Given the description of an element on the screen output the (x, y) to click on. 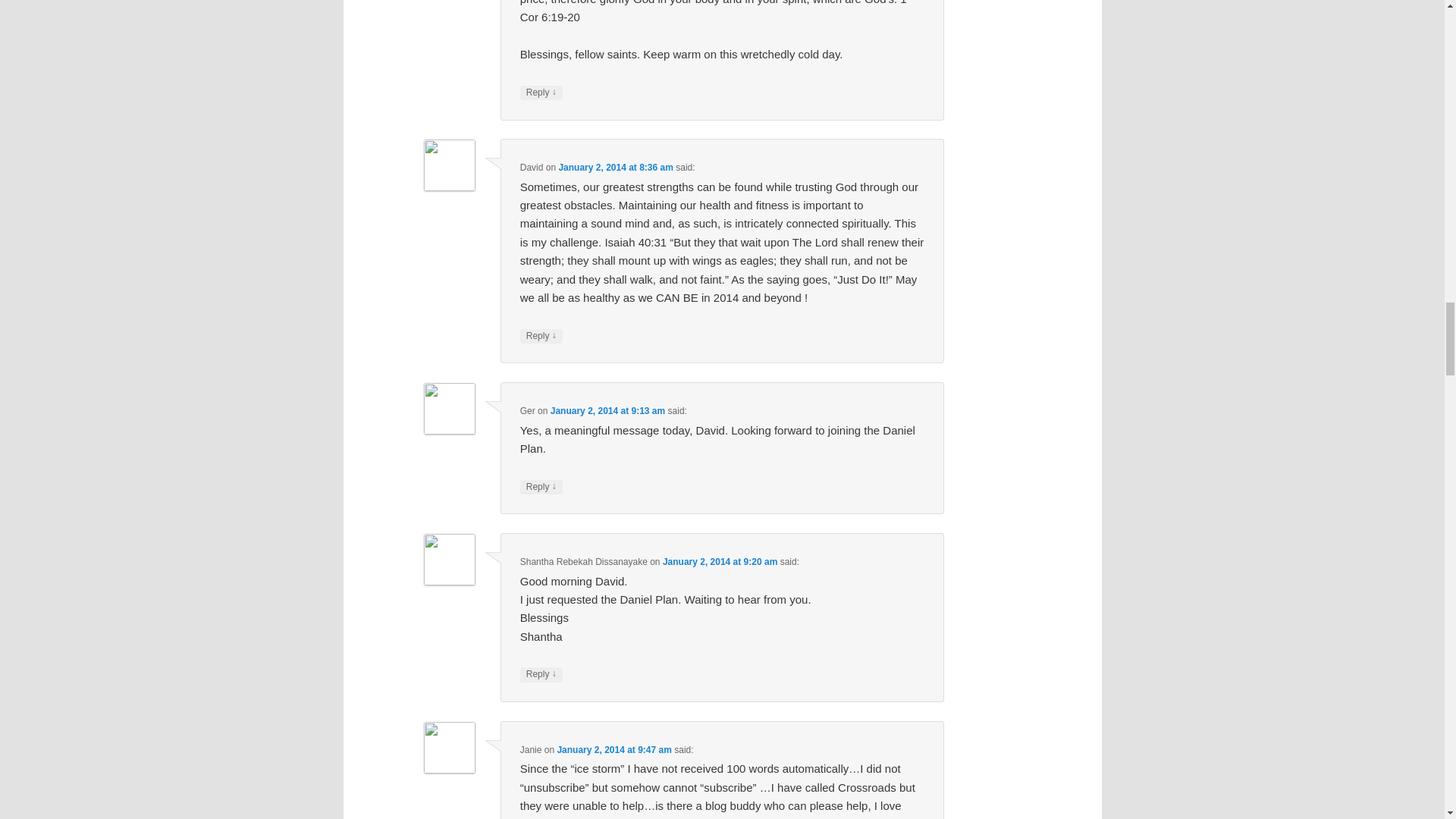
January 2, 2014 at 9:20 am (719, 561)
January 2, 2014 at 8:36 am (614, 167)
January 2, 2014 at 9:13 am (607, 410)
January 2, 2014 at 9:47 am (613, 749)
